Given the description of an element on the screen output the (x, y) to click on. 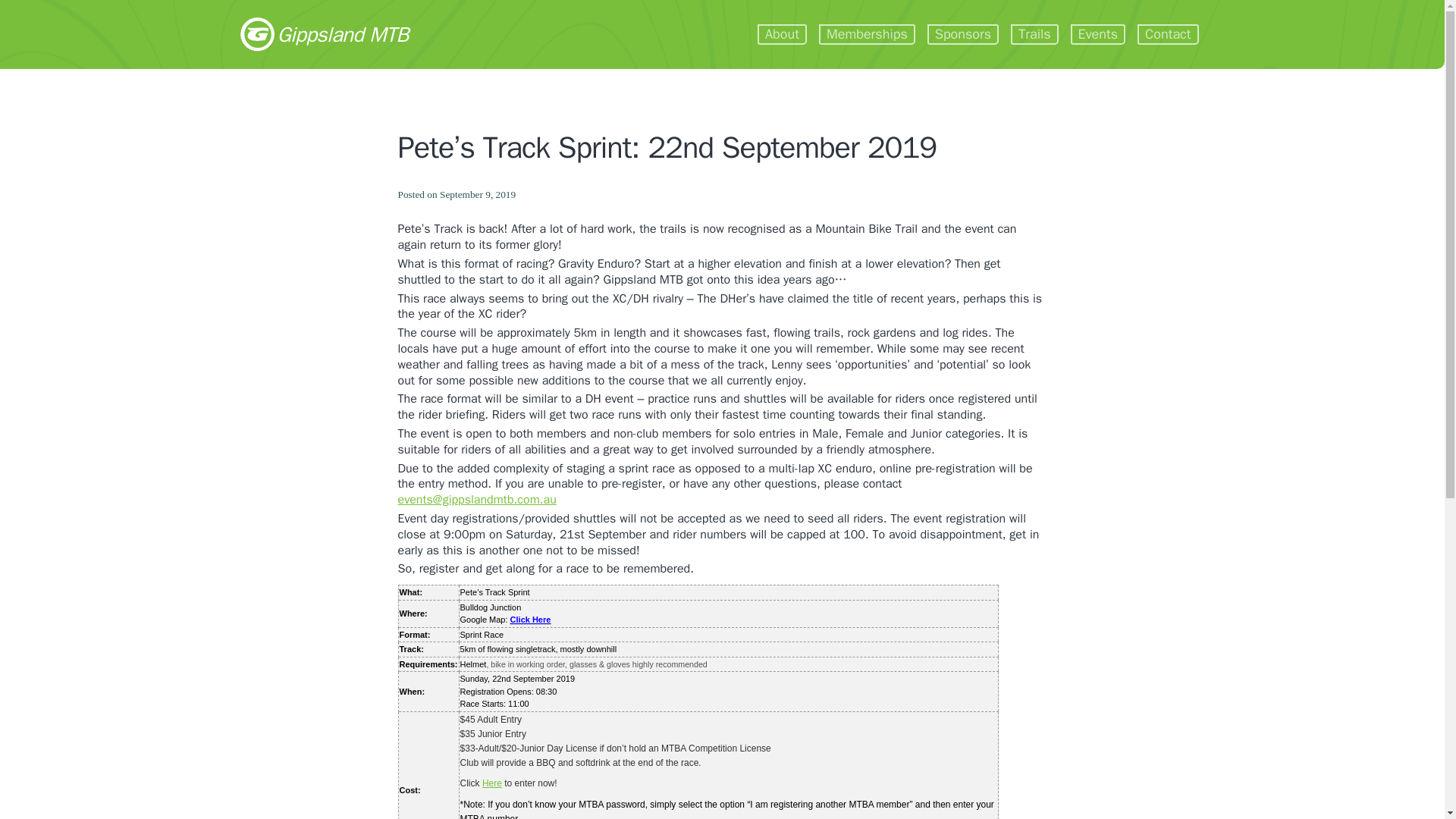
Here (491, 783)
Sponsors (962, 34)
Events (1097, 34)
Gippsland MTB (323, 33)
Contact (1167, 34)
About (781, 34)
Memberships (866, 34)
Trails (1034, 34)
Click Here (531, 619)
